Given the description of an element on the screen output the (x, y) to click on. 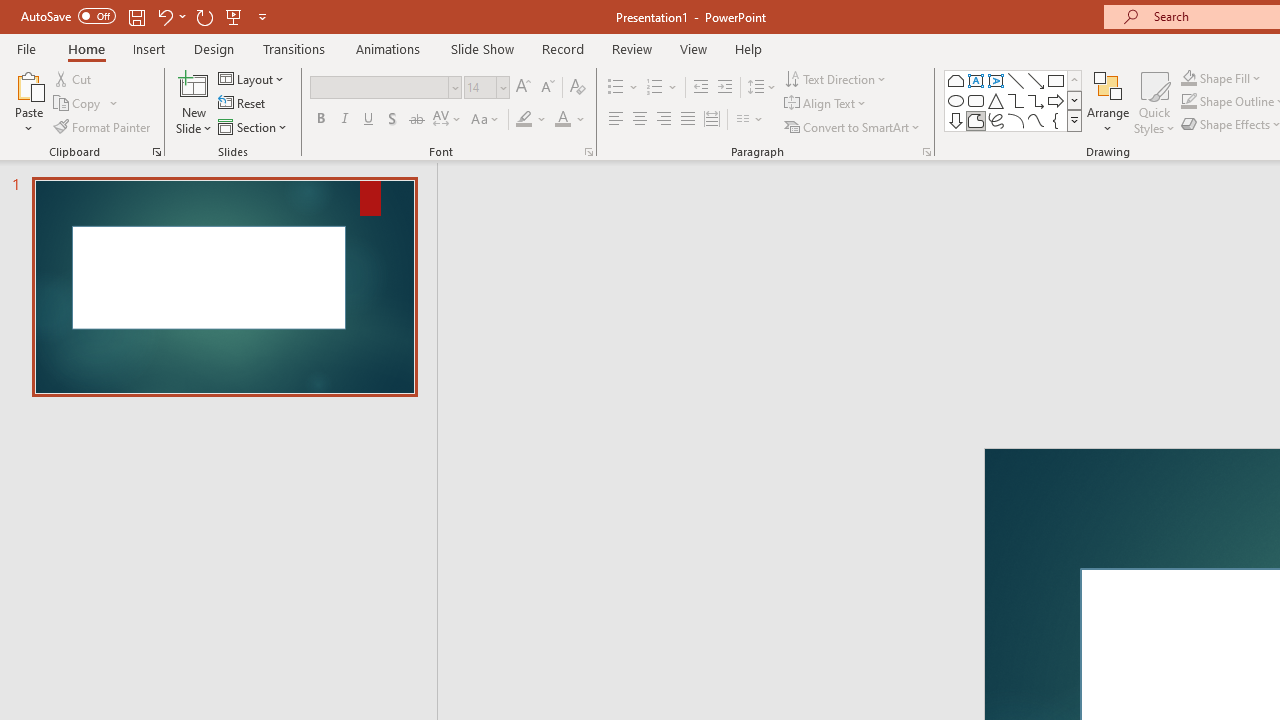
Italic (344, 119)
AutomationID: ShapesInsertGallery (1014, 100)
Line Arrow (1035, 80)
Isosceles Triangle (995, 100)
Connector: Elbow (1016, 100)
Curve (1035, 120)
Font... (588, 151)
Underline (369, 119)
